Given the description of an element on the screen output the (x, y) to click on. 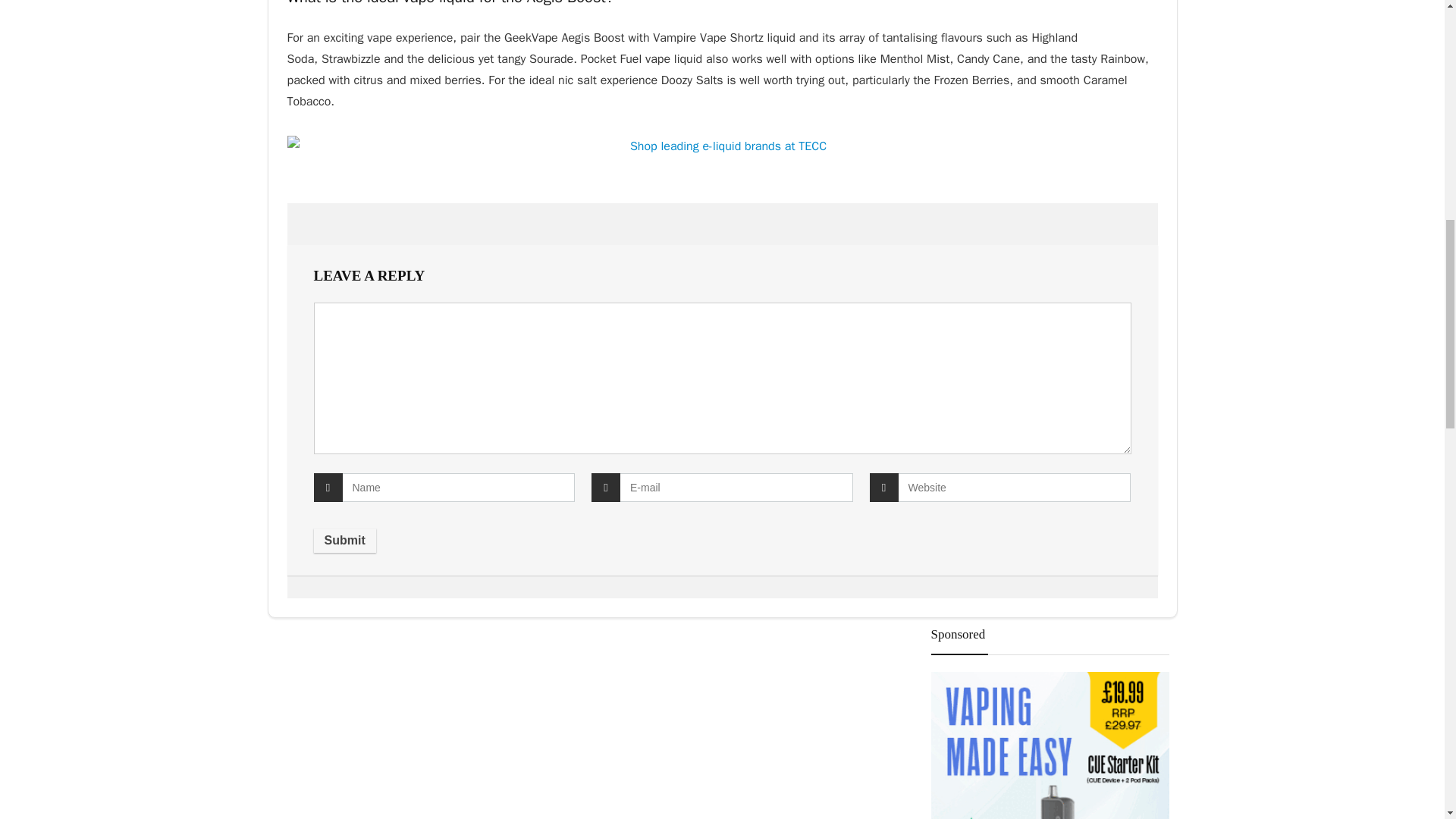
Submit (344, 540)
Submit (344, 540)
